Given the description of an element on the screen output the (x, y) to click on. 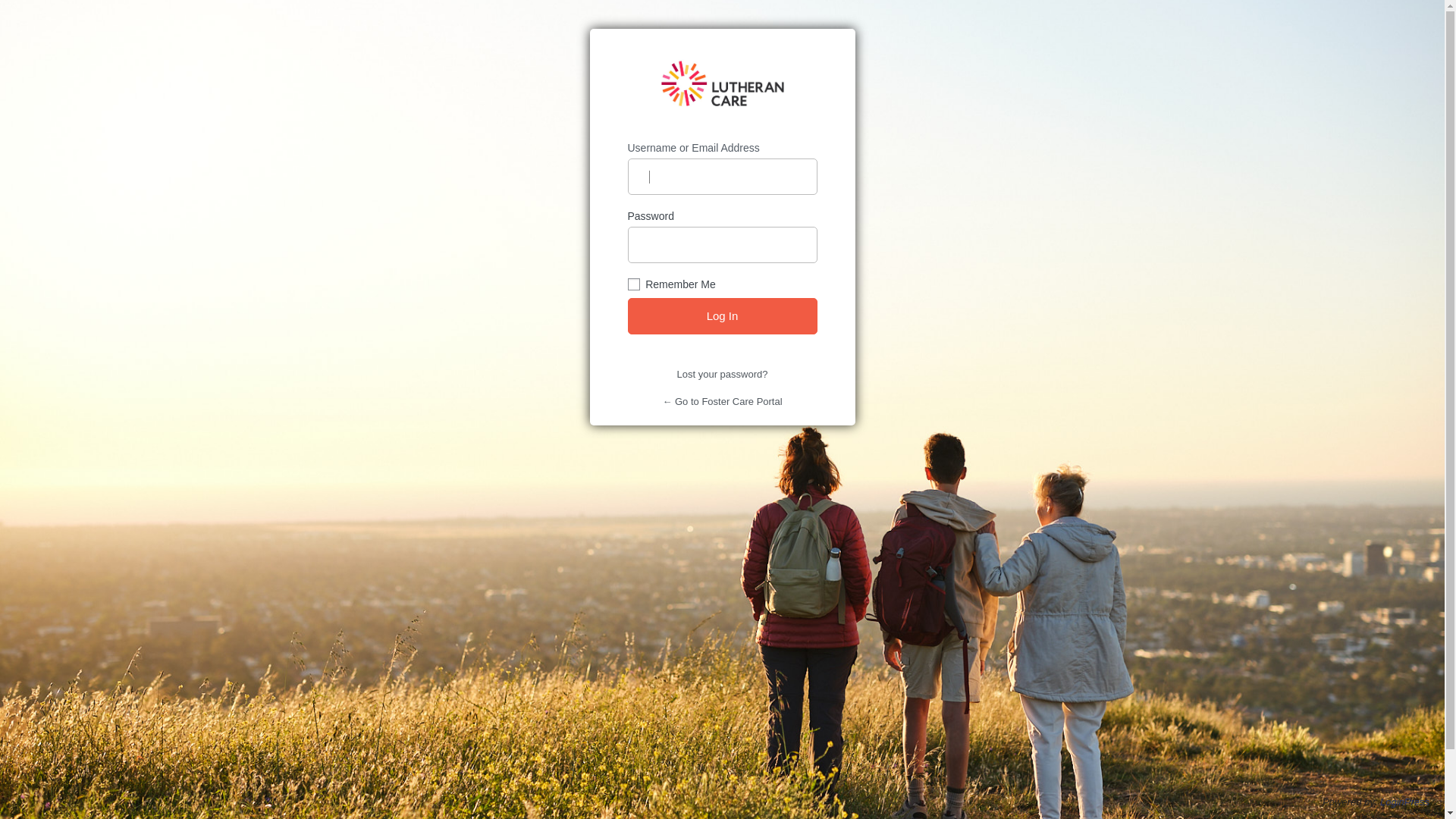
Log In Element type: text (722, 316)
Lost your password? Element type: text (722, 373)
https://fostercareportal.lutherancare.org.au Element type: text (721, 84)
LoginPress Element type: text (1404, 801)
